Given the description of an element on the screen output the (x, y) to click on. 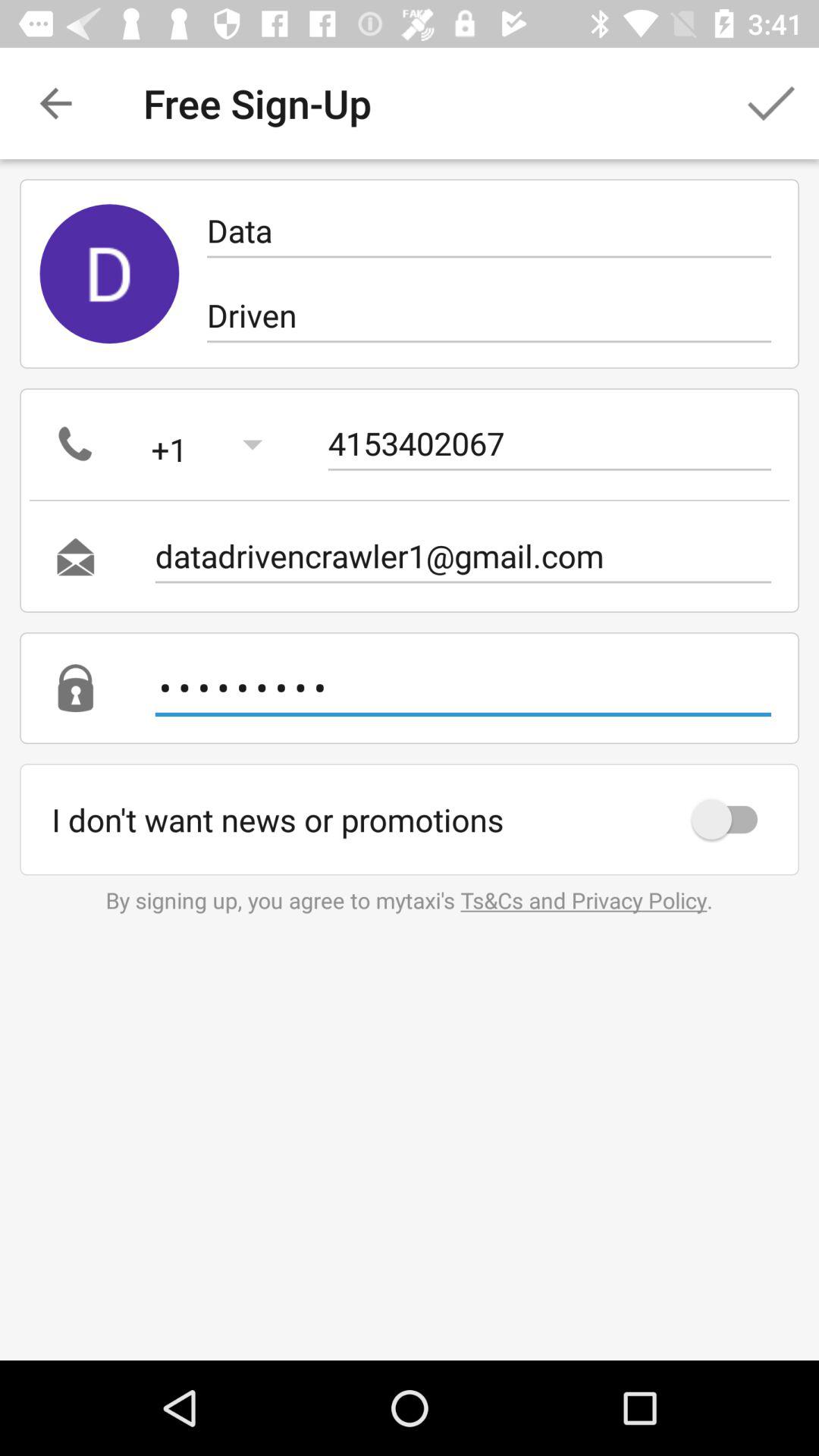
turn on icon below crowd3116 (731, 819)
